Given the description of an element on the screen output the (x, y) to click on. 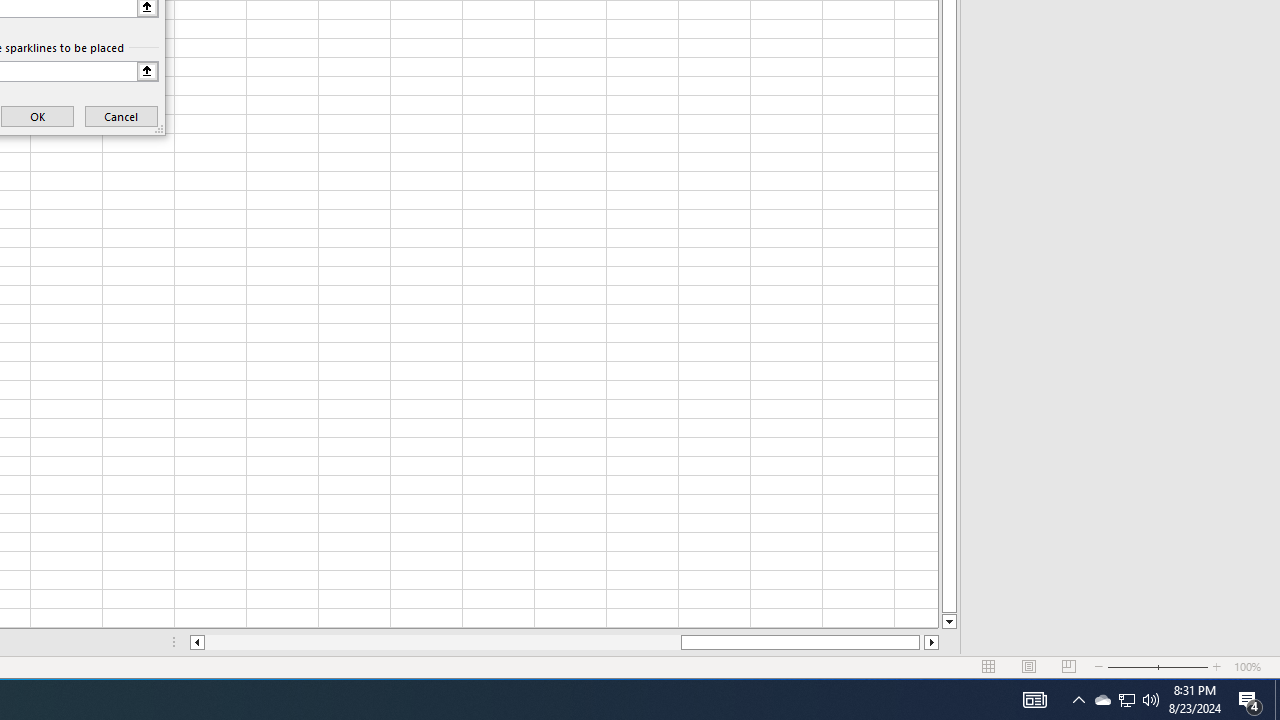
Page left (442, 642)
